Given the description of an element on the screen output the (x, y) to click on. 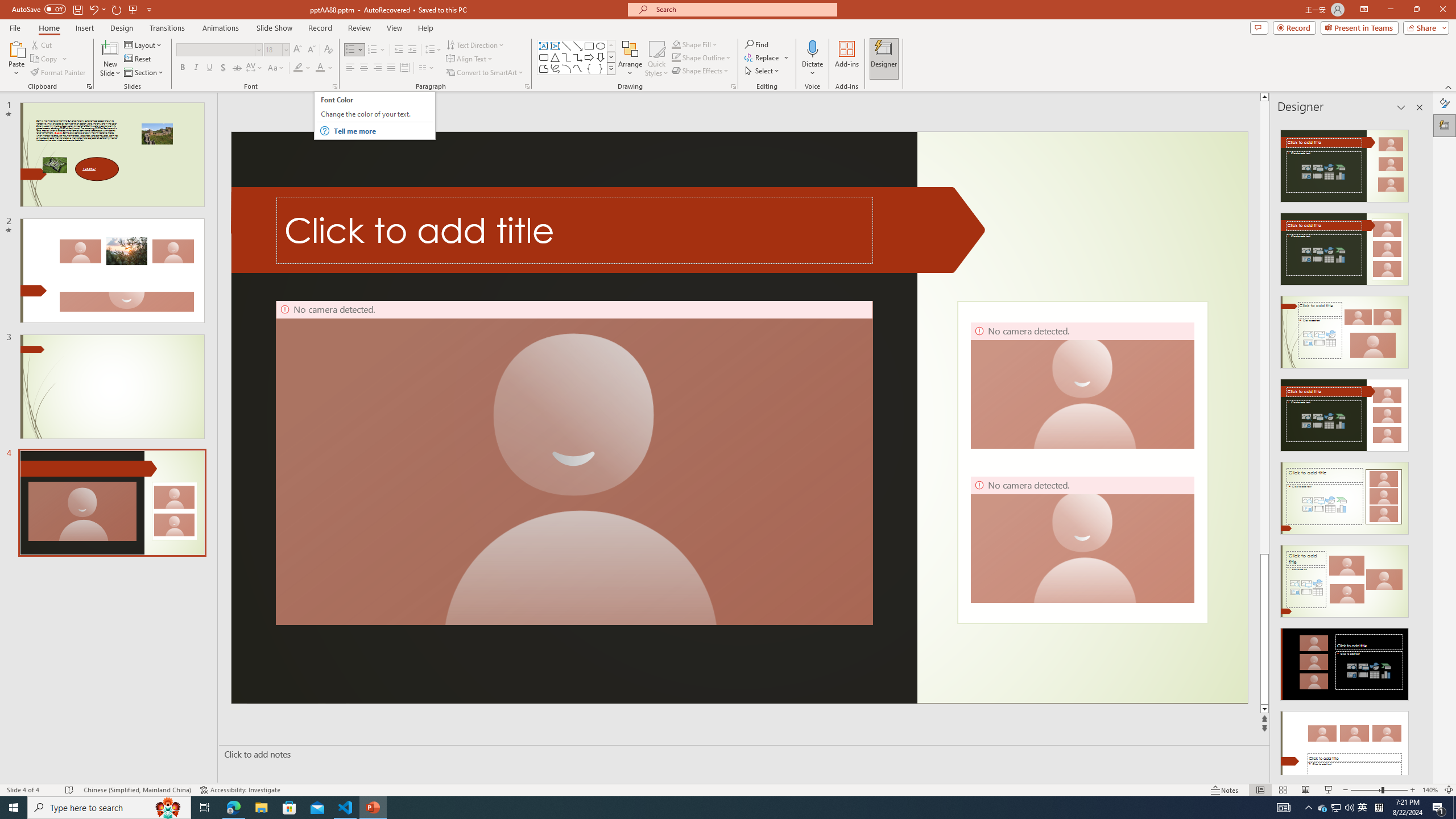
Camera 3, No camera detected. (1082, 385)
